Given the description of an element on the screen output the (x, y) to click on. 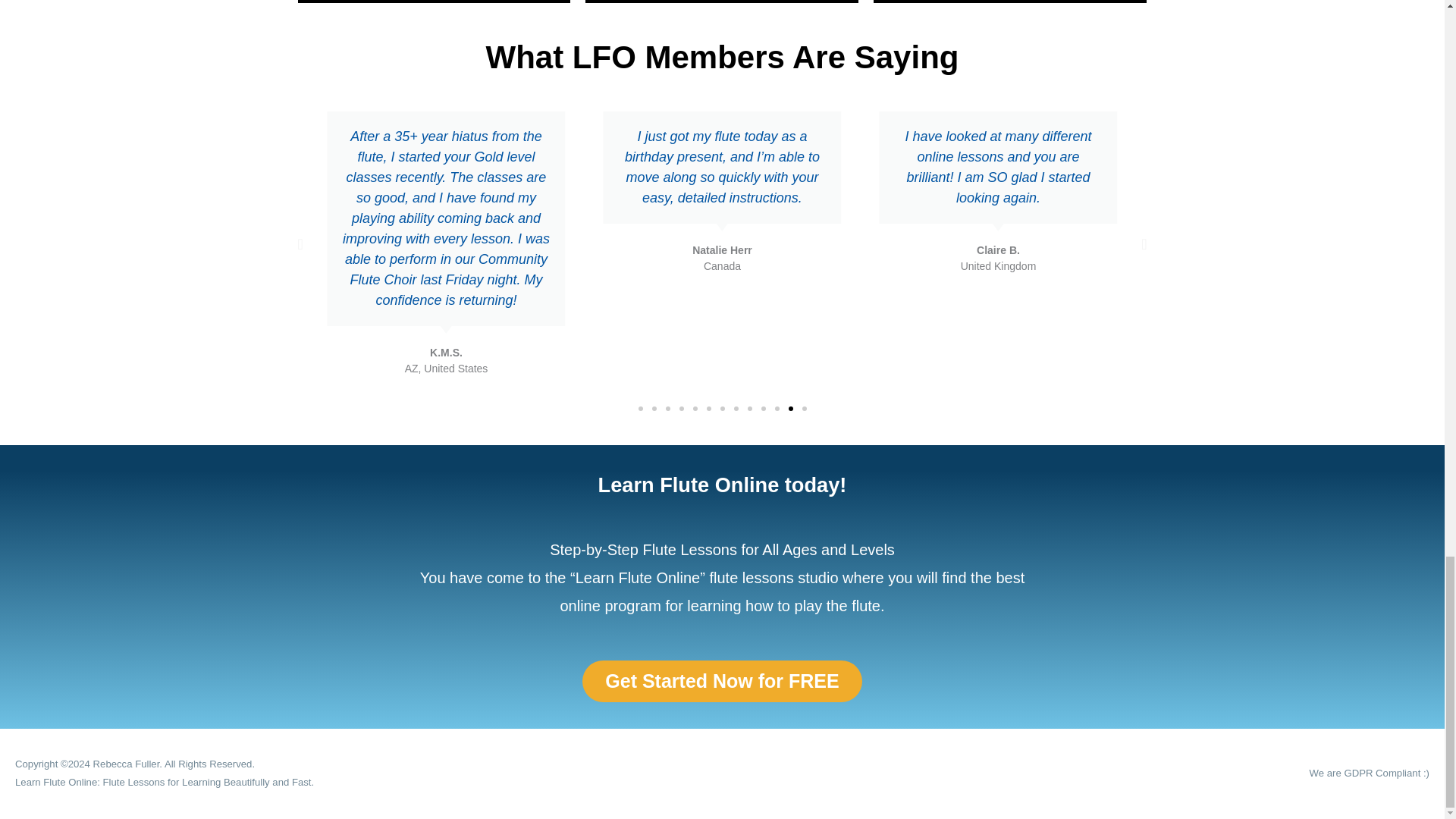
Get Started Now for FREE (721, 680)
